Given the description of an element on the screen output the (x, y) to click on. 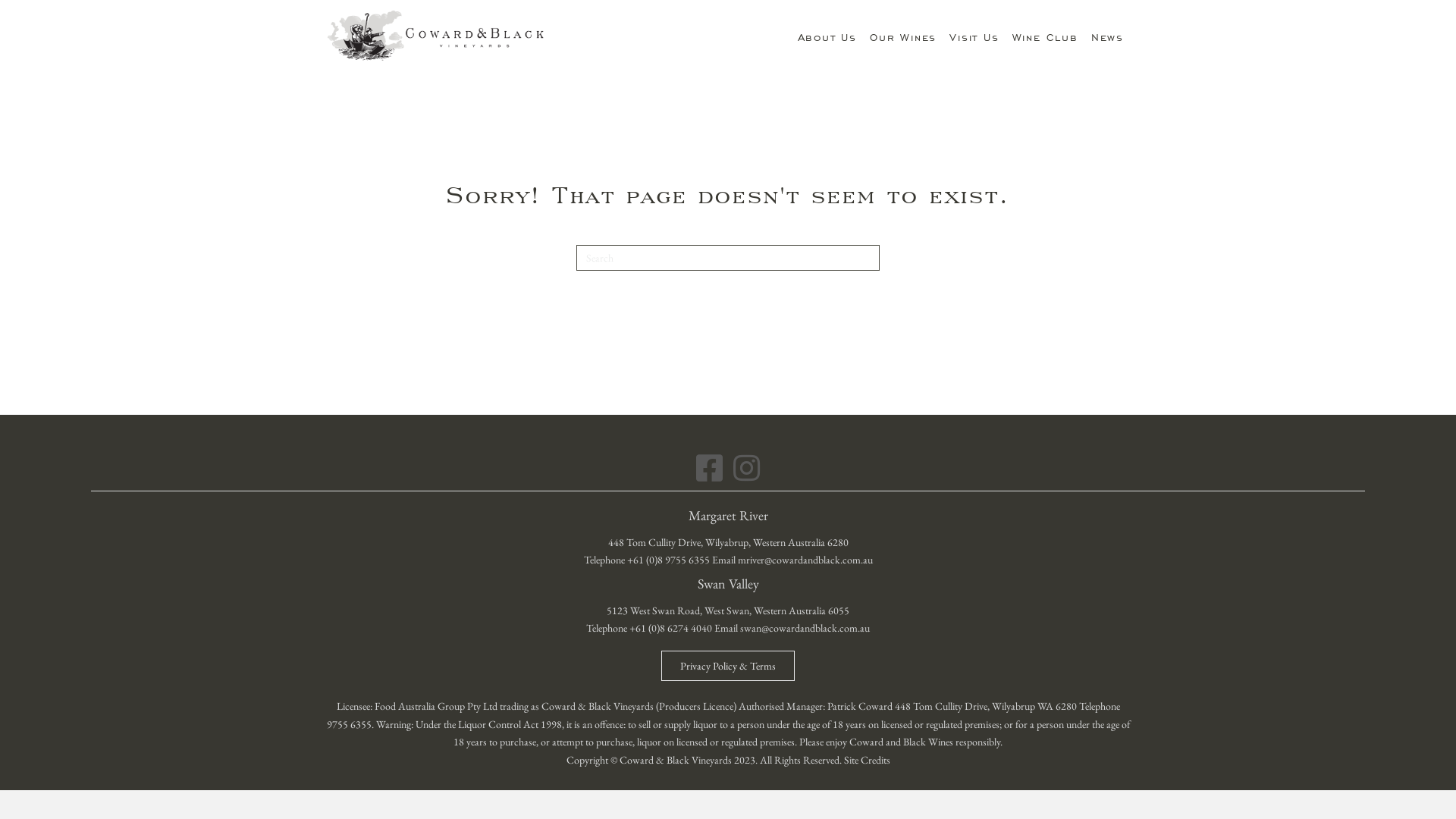
+61 (0)8 6274 4040 Element type: text (670, 627)
swan@cowardandblack.com.au Element type: text (804, 627)
Site Credits Element type: text (866, 759)
Privacy Policy & Terms Element type: text (727, 665)
Wine Club Element type: text (1045, 36)
Visit Us Element type: text (973, 36)
+61 (0)8 9755 6355 Element type: text (667, 559)
Coward & Black Vineyards Element type: hover (436, 36)
Type and press Enter to search. Element type: hover (727, 257)
About Us Element type: text (826, 36)
mriver@cowardandblack.com.au Element type: text (804, 559)
News Element type: text (1107, 36)
Our Wines Element type: text (902, 36)
